Given the description of an element on the screen output the (x, y) to click on. 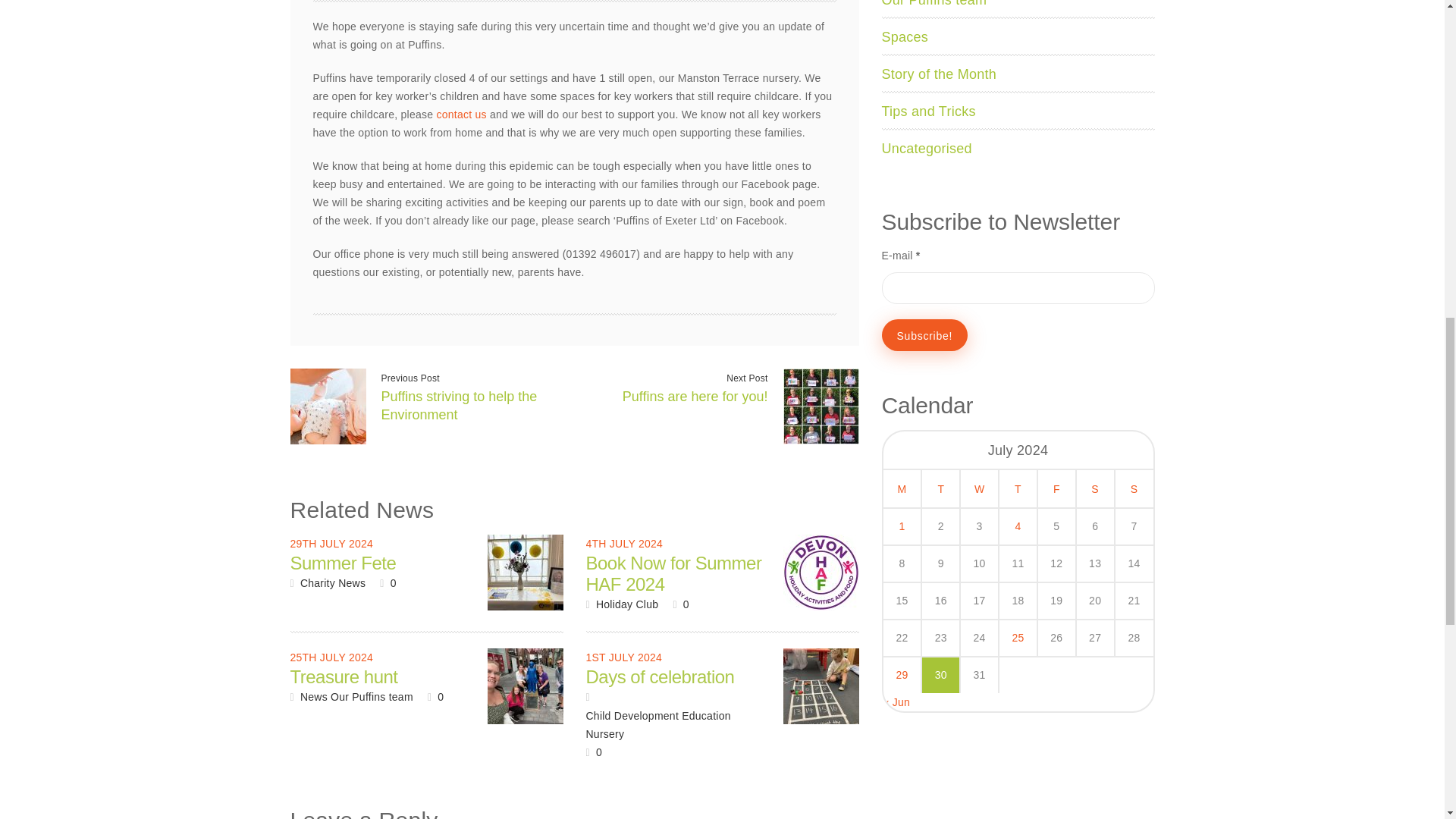
Days of celebration (821, 685)
Book Now for Summer HAF 2024 (821, 572)
Summer Fete (524, 572)
Treasure hunt (524, 685)
E-mail (1018, 287)
Subscribe! (925, 335)
Monday (902, 488)
Tuesday (940, 488)
